Given the description of an element on the screen output the (x, y) to click on. 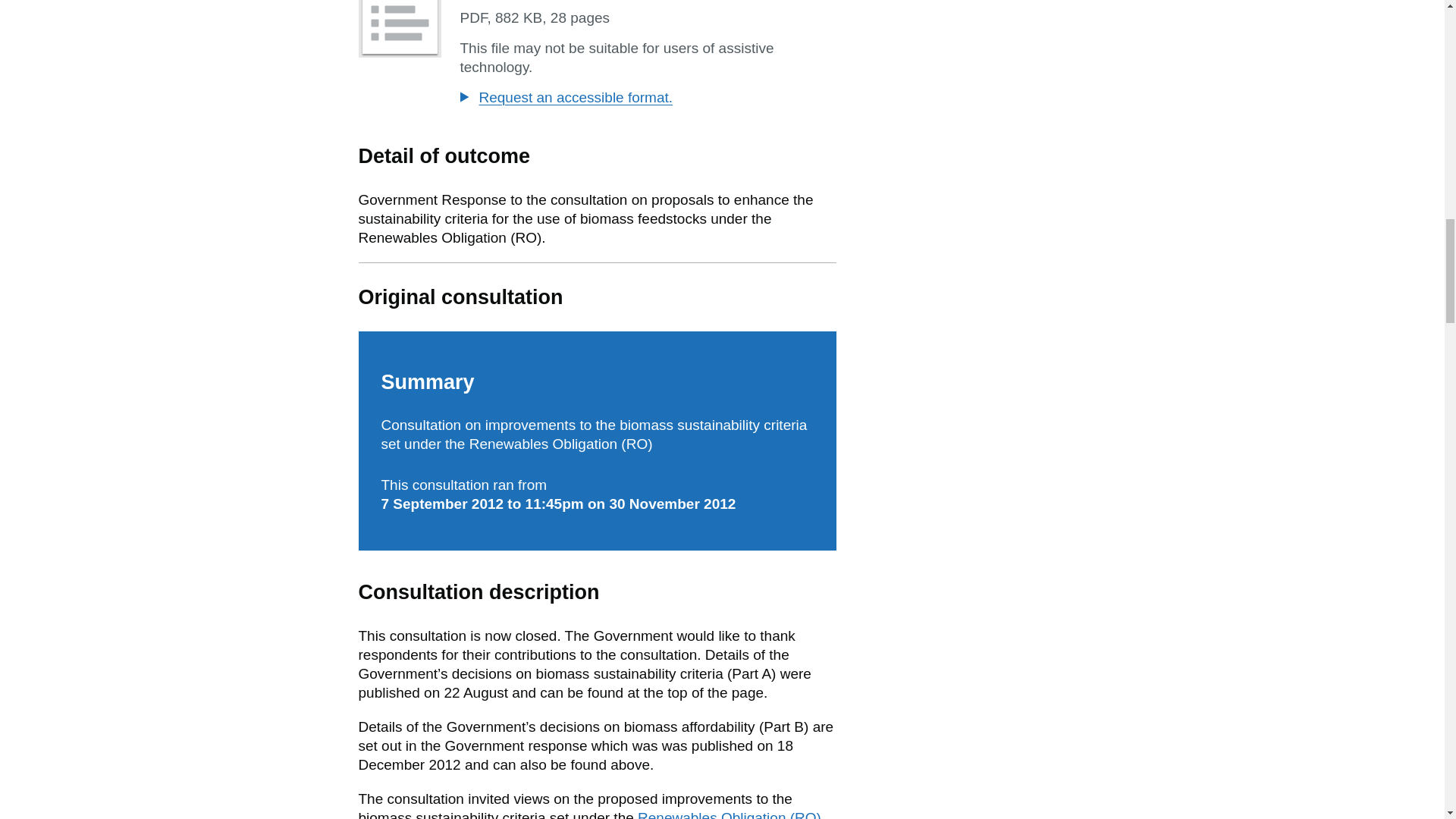
Portable Document Format (473, 17)
